Given the description of an element on the screen output the (x, y) to click on. 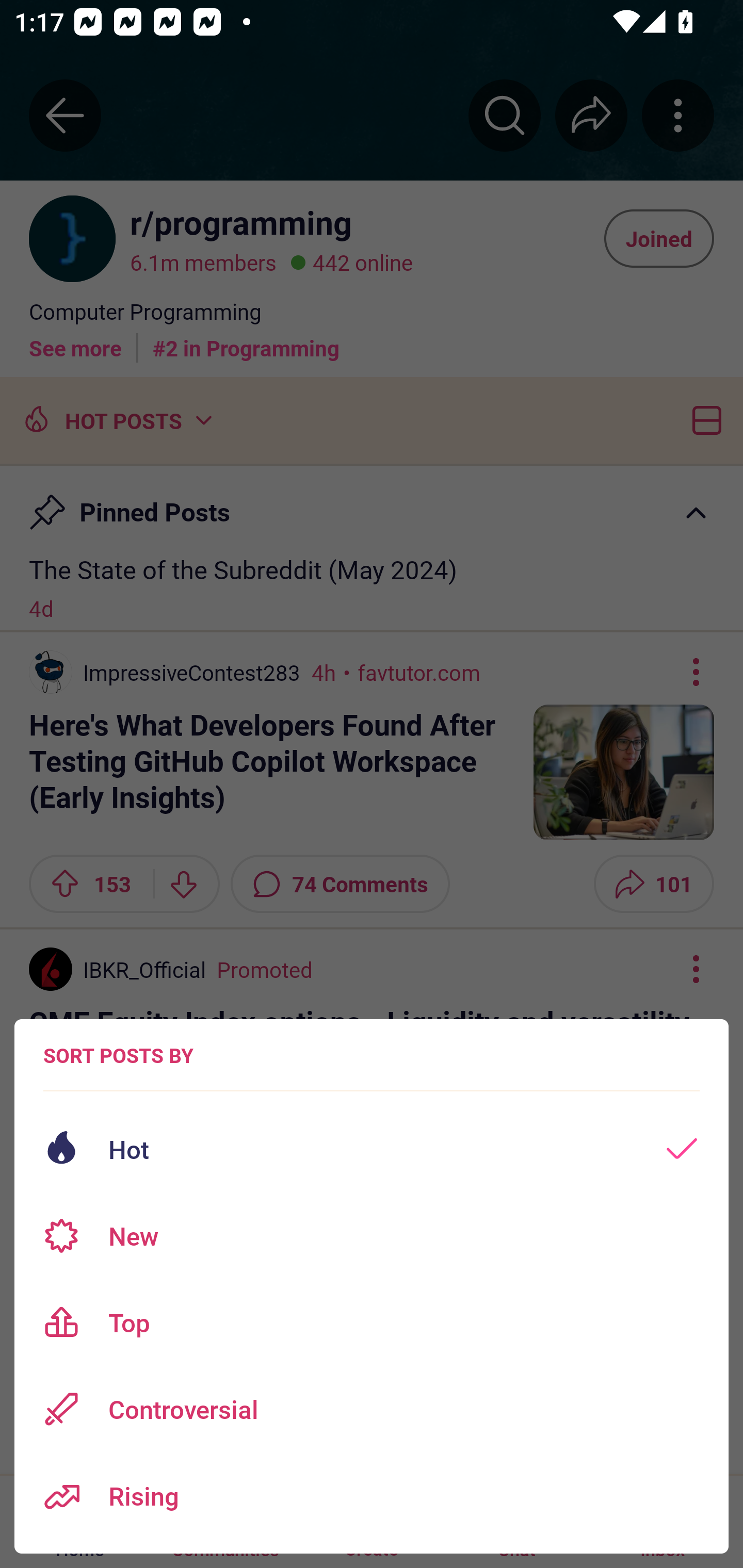
SORT POSTS BY Sort posts options (118, 1055)
Hot (371, 1149)
New (371, 1236)
Top (371, 1322)
Controversial (371, 1408)
Rising (371, 1495)
